Given the description of an element on the screen output the (x, y) to click on. 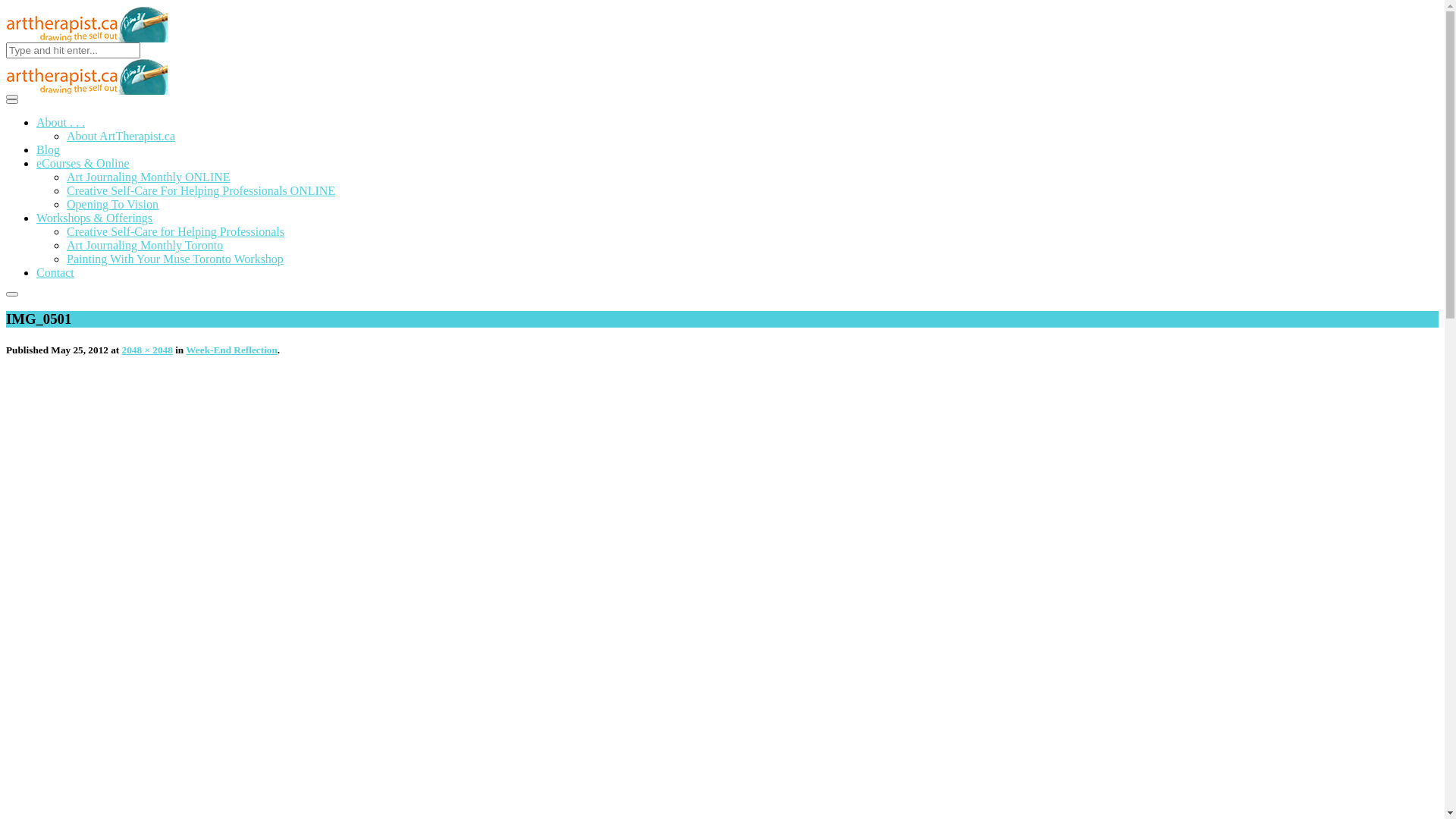
About . . . Element type: text (60, 122)
ArtTherapist.ca Element type: hover (86, 24)
Art Journaling Monthly ONLINE Element type: text (148, 176)
Creative Self-Care for Helping Professionals Element type: text (175, 231)
Creative Self-Care For Helping Professionals ONLINE Element type: text (200, 190)
Opening To Vision Element type: text (112, 203)
Art Journaling Monthly Toronto Element type: text (144, 244)
ArtTherapist.ca Element type: hover (86, 76)
About ArtTherapist.ca Element type: text (120, 135)
Contact Element type: text (55, 272)
Workshops & Offerings Element type: text (94, 217)
Week-End Reflection Element type: text (231, 349)
Painting With Your Muse Toronto Workshop Element type: text (174, 258)
eCourses & Online Element type: text (82, 162)
Blog Element type: text (47, 149)
